Given the description of an element on the screen output the (x, y) to click on. 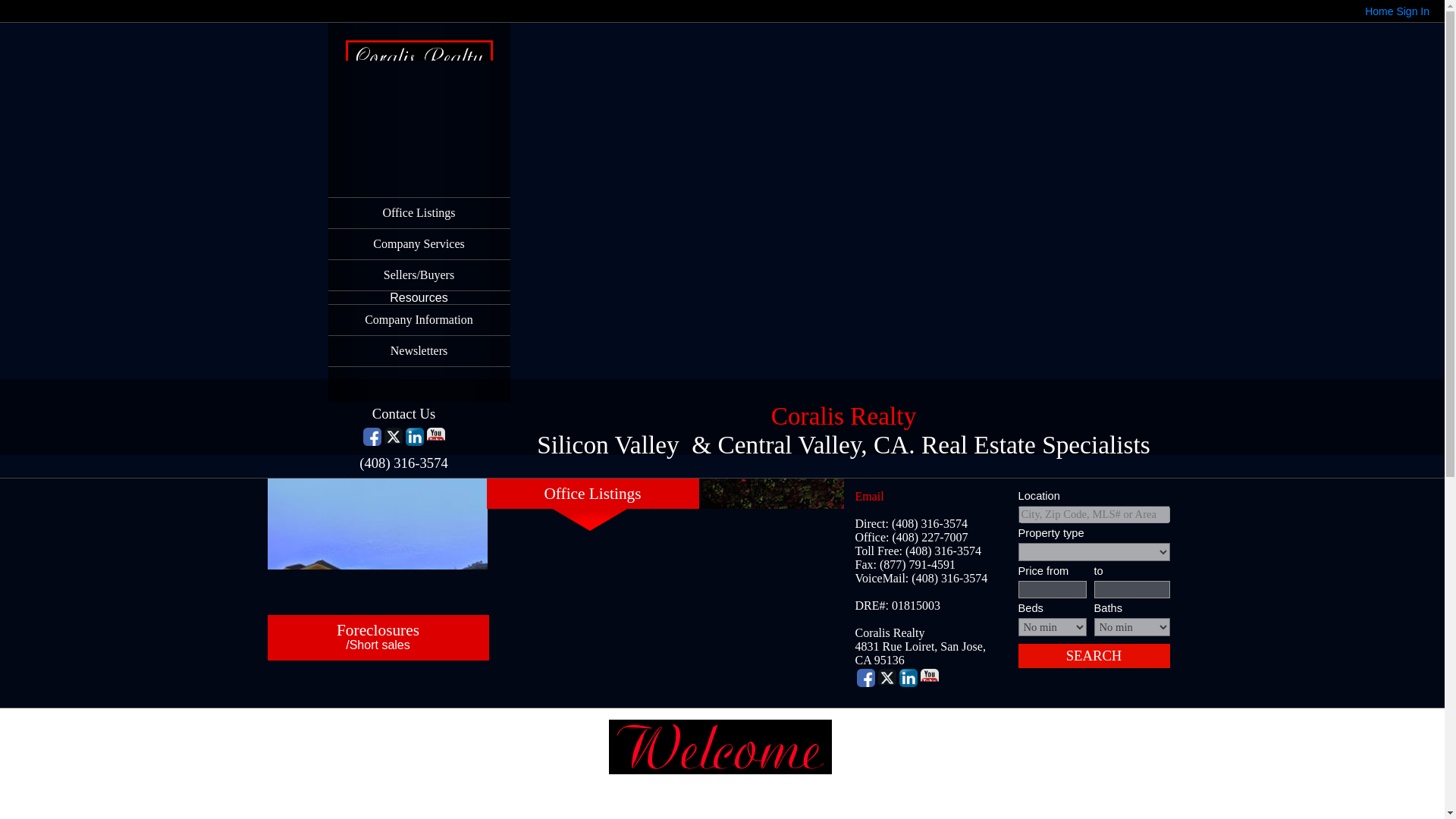
Office Listings (418, 213)
Email (869, 495)
Monthly newsletter with Helpful Tips for Homeowners (418, 350)
YouTube (929, 678)
Large collection of FREE Reports for Sellers. (418, 275)
Newsletters (418, 350)
SEARCH (1093, 655)
YouTube (435, 436)
Linked-In (413, 436)
Facebook (866, 678)
